Given the description of an element on the screen output the (x, y) to click on. 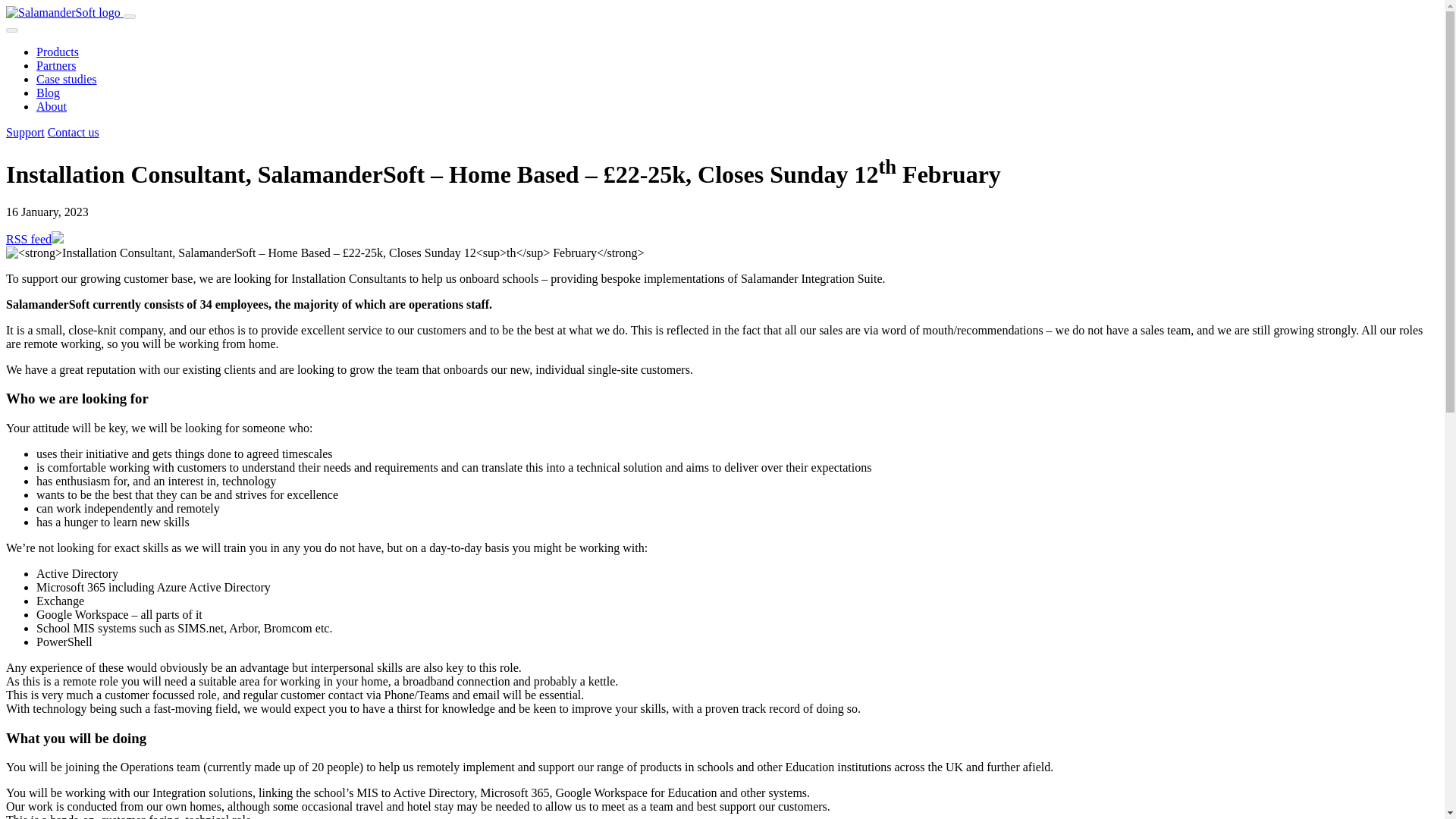
Partners (55, 65)
Support (25, 132)
About (51, 106)
Contact us (73, 132)
Products (57, 51)
RSS feed (27, 238)
Blog (47, 92)
Case studies (66, 78)
